Given the description of an element on the screen output the (x, y) to click on. 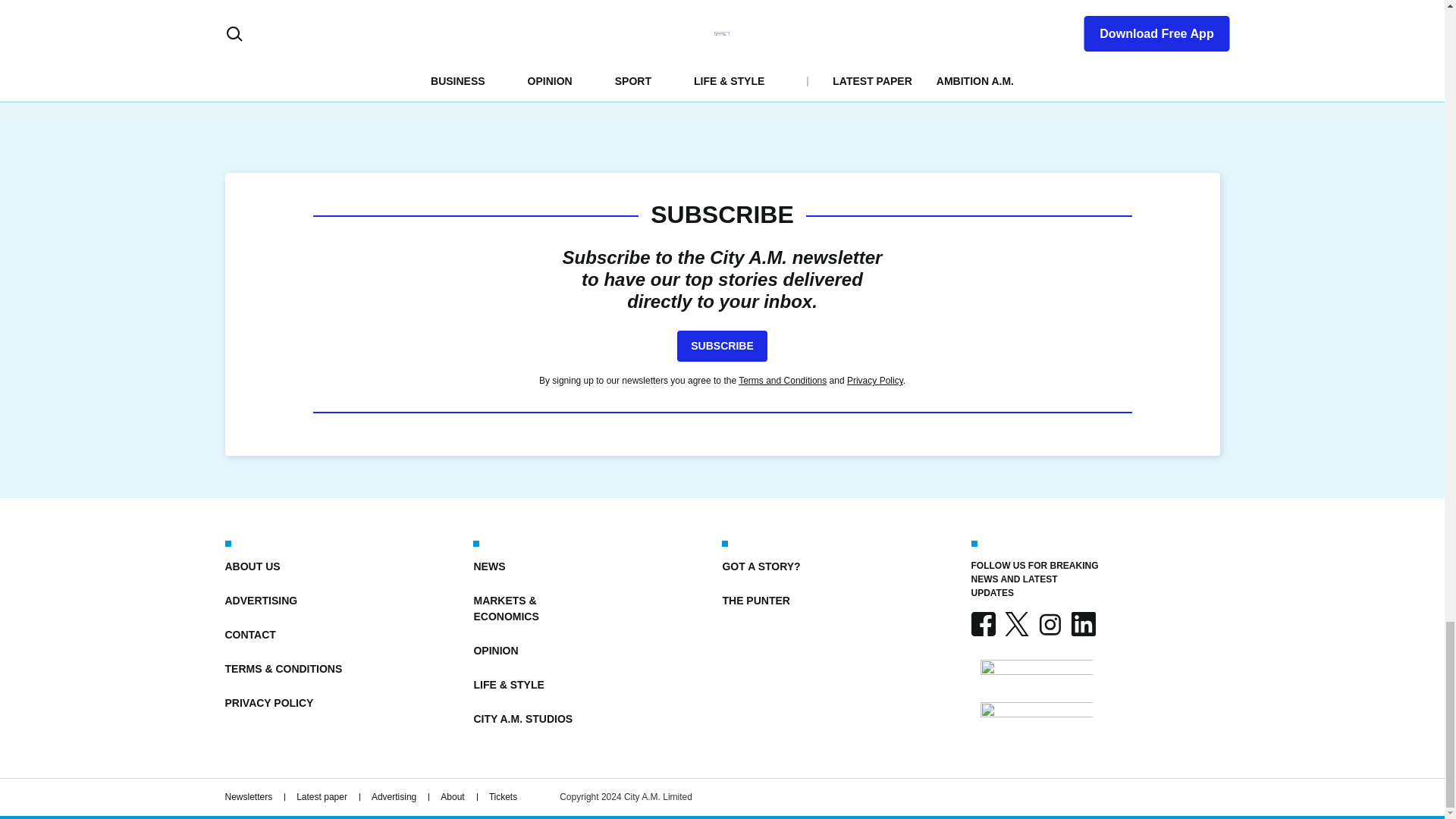
INSTAGRAM (1048, 623)
LINKEDIN (1082, 623)
X (1015, 623)
FACEBOOK (982, 623)
